Given the description of an element on the screen output the (x, y) to click on. 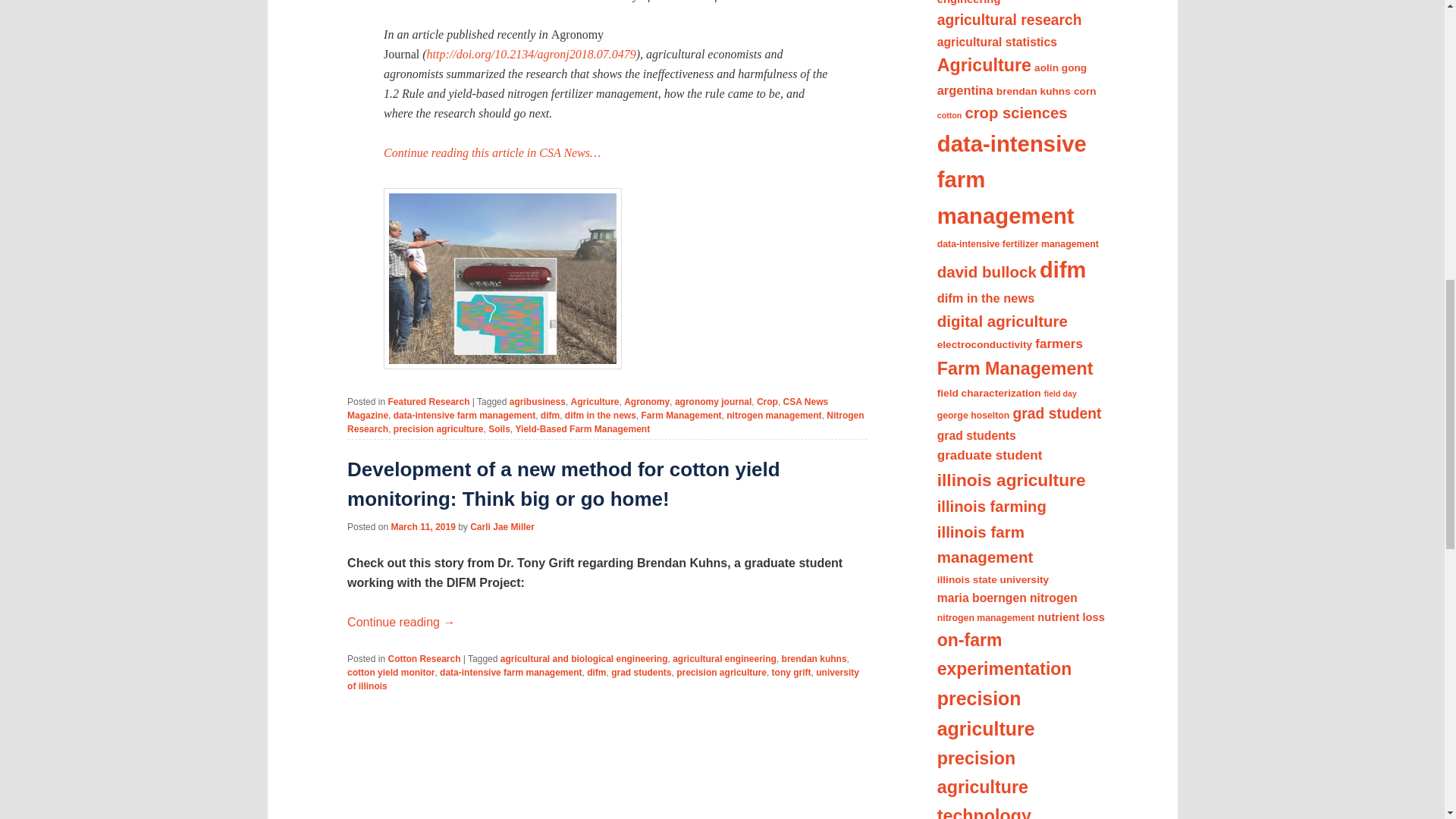
CSA News Magazine (587, 408)
Agriculture (595, 401)
agricultural and biological engineering (584, 658)
nitrogen management (773, 415)
Crop (767, 401)
cotton yield monitor (390, 672)
difm (549, 415)
difm in the news (600, 415)
1:23 pm (422, 526)
Nitrogen Research (605, 422)
